Given the description of an element on the screen output the (x, y) to click on. 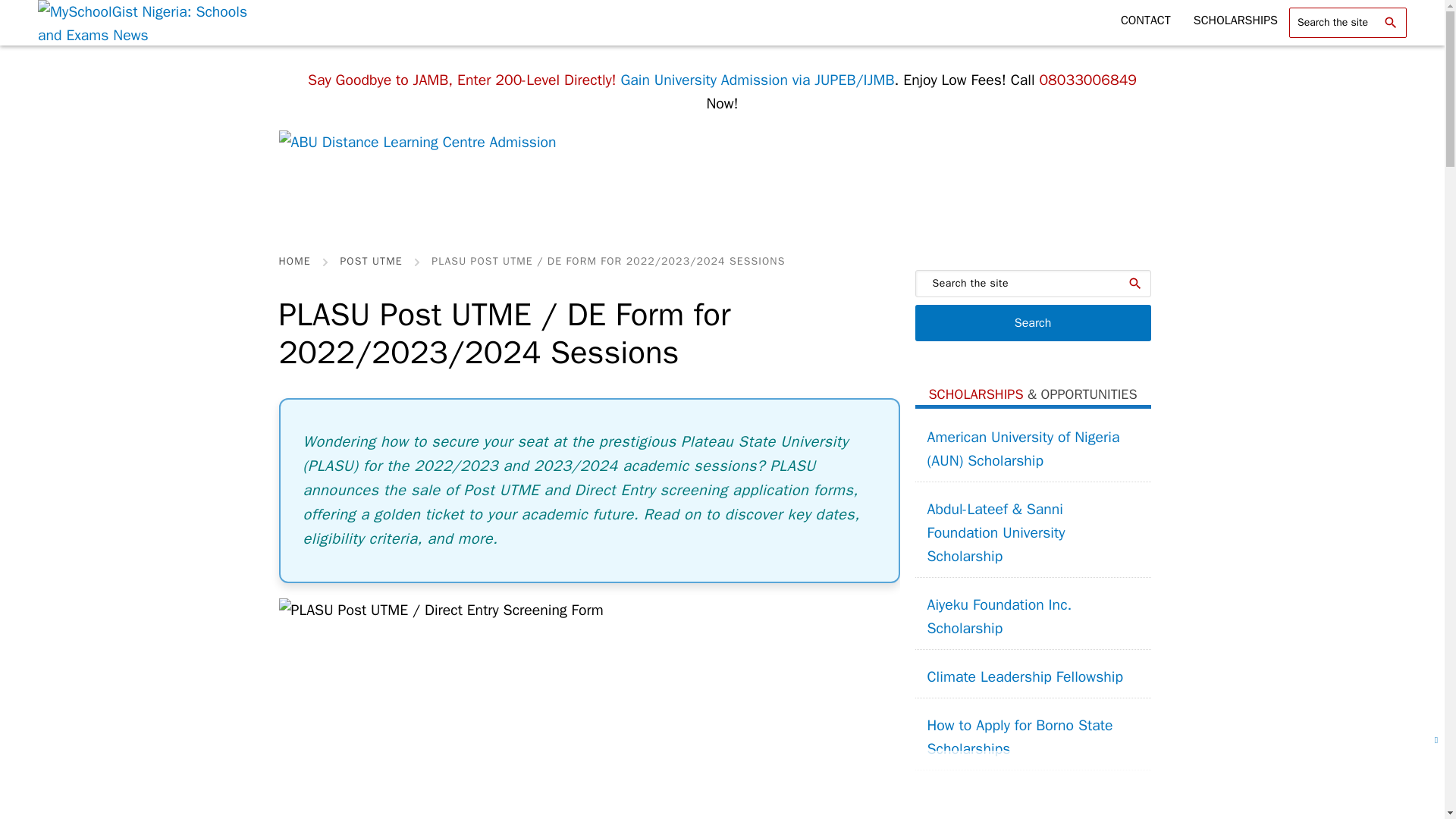
Search (1032, 322)
HOME (295, 261)
CONTACT (1145, 20)
Go to MySchoolGist. (295, 261)
How to Apply for Borno State Scholarships (1032, 736)
Go to the Post UTME category archives. (370, 261)
Climate Leadership Fellowship (1024, 676)
SCHOLARSHIPS (1235, 20)
POST UTME (370, 261)
Aiyeku Foundation Inc. Scholarship (1032, 616)
